Given the description of an element on the screen output the (x, y) to click on. 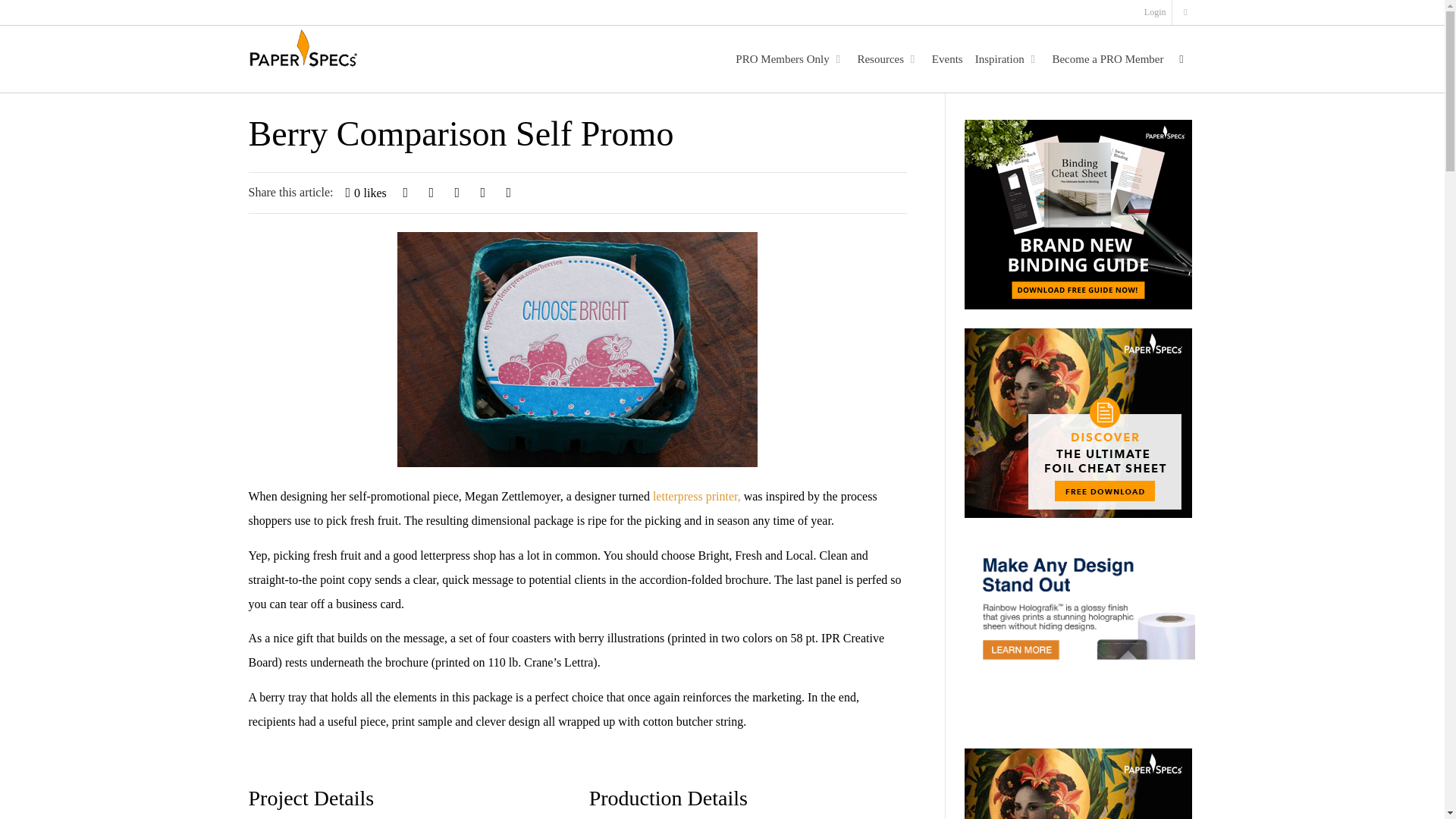
PaperSpecs (302, 49)
Login (1155, 12)
PRO Members Only (785, 58)
Login (1155, 12)
PRO Members Only (785, 58)
View Cart (1184, 12)
